Given the description of an element on the screen output the (x, y) to click on. 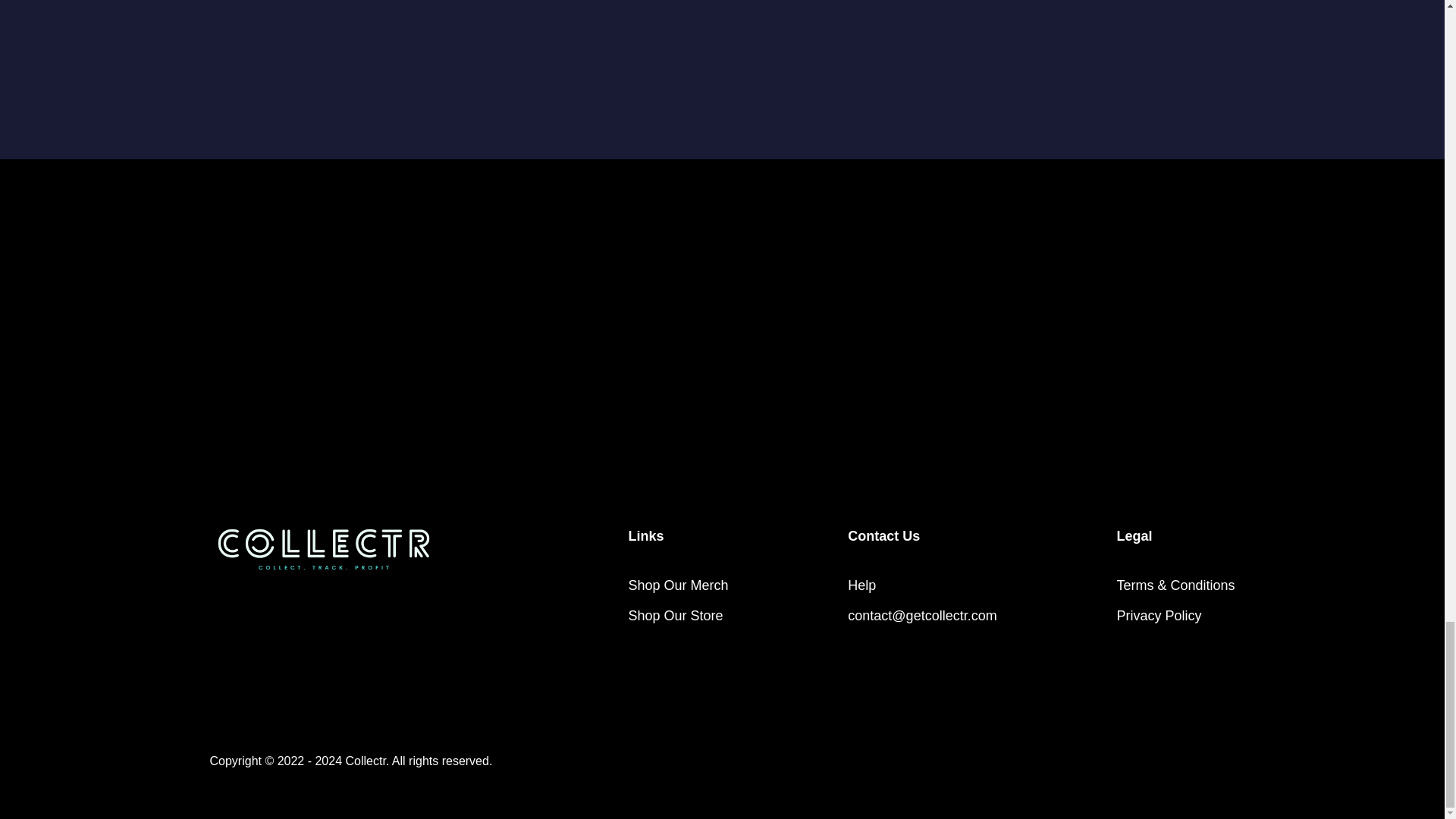
Shop Our Store (674, 615)
Help (861, 585)
Shop Our Merch (677, 585)
Privacy Policy (1158, 615)
